Given the description of an element on the screen output the (x, y) to click on. 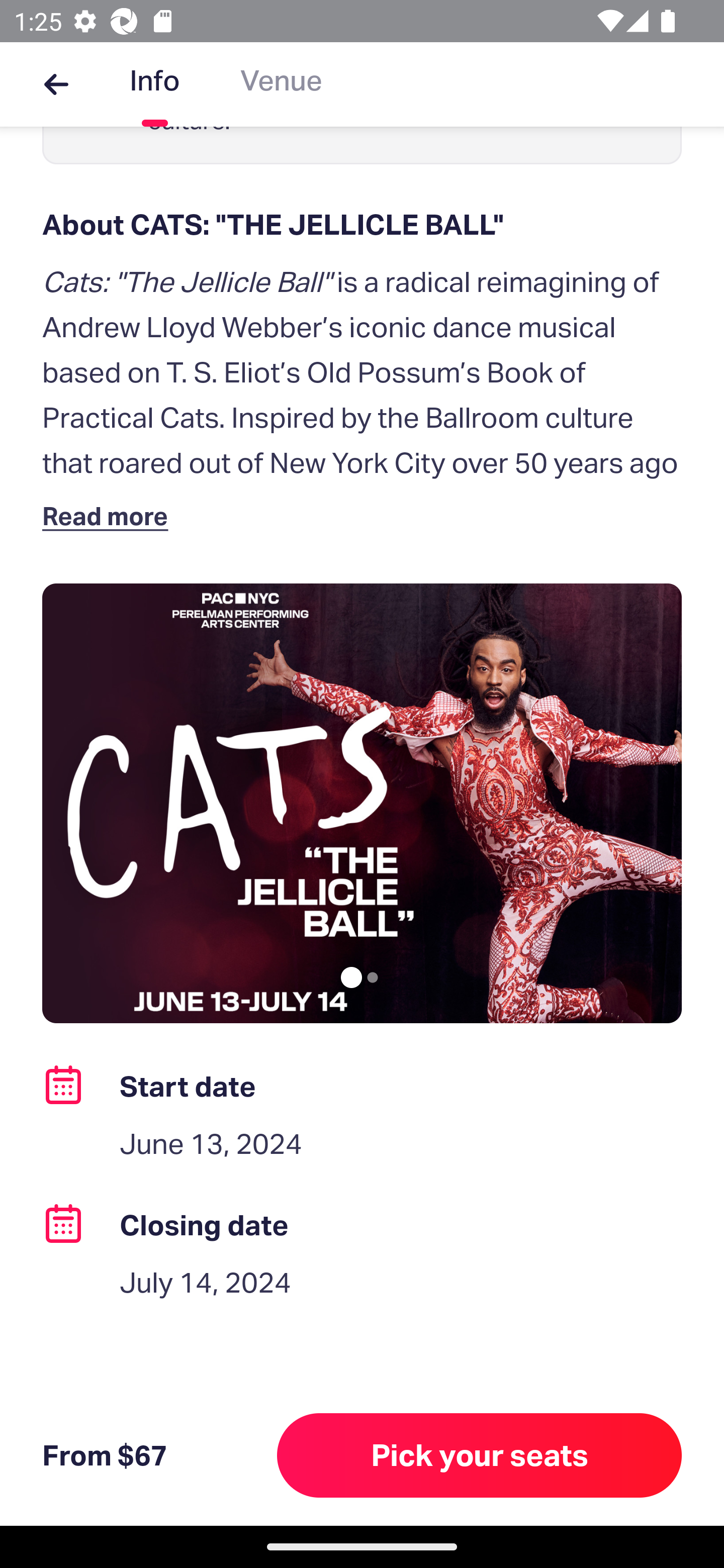
Venue (280, 84)
About CATS: "THE JELLICLE BALL" (361, 224)
Read more (109, 514)
Pick your seats (479, 1454)
